Given the description of an element on the screen output the (x, y) to click on. 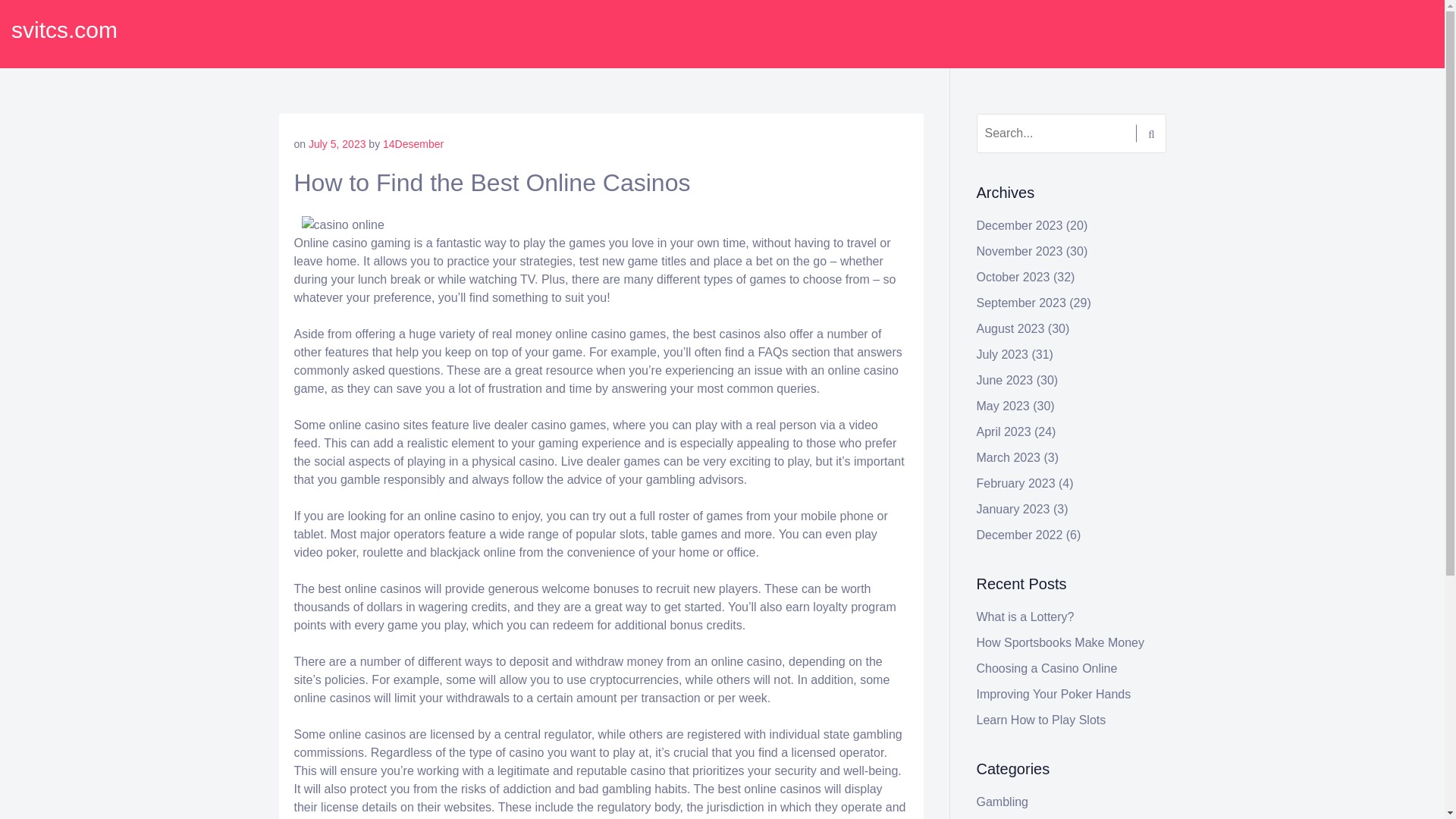
May 2023 (1002, 405)
August 2023 (1010, 328)
February 2023 (1015, 482)
December 2023 (1019, 225)
March 2023 (1008, 457)
December 2022 (1019, 534)
November 2023 (1019, 250)
September 2023 (1020, 302)
April 2023 (1003, 431)
How Sportsbooks Make Money (1060, 642)
Learn How to Play Slots (1041, 719)
January 2023 (1012, 508)
Gambling (1001, 801)
What is a Lottery? (1025, 616)
July 2023 (1002, 354)
